Given the description of an element on the screen output the (x, y) to click on. 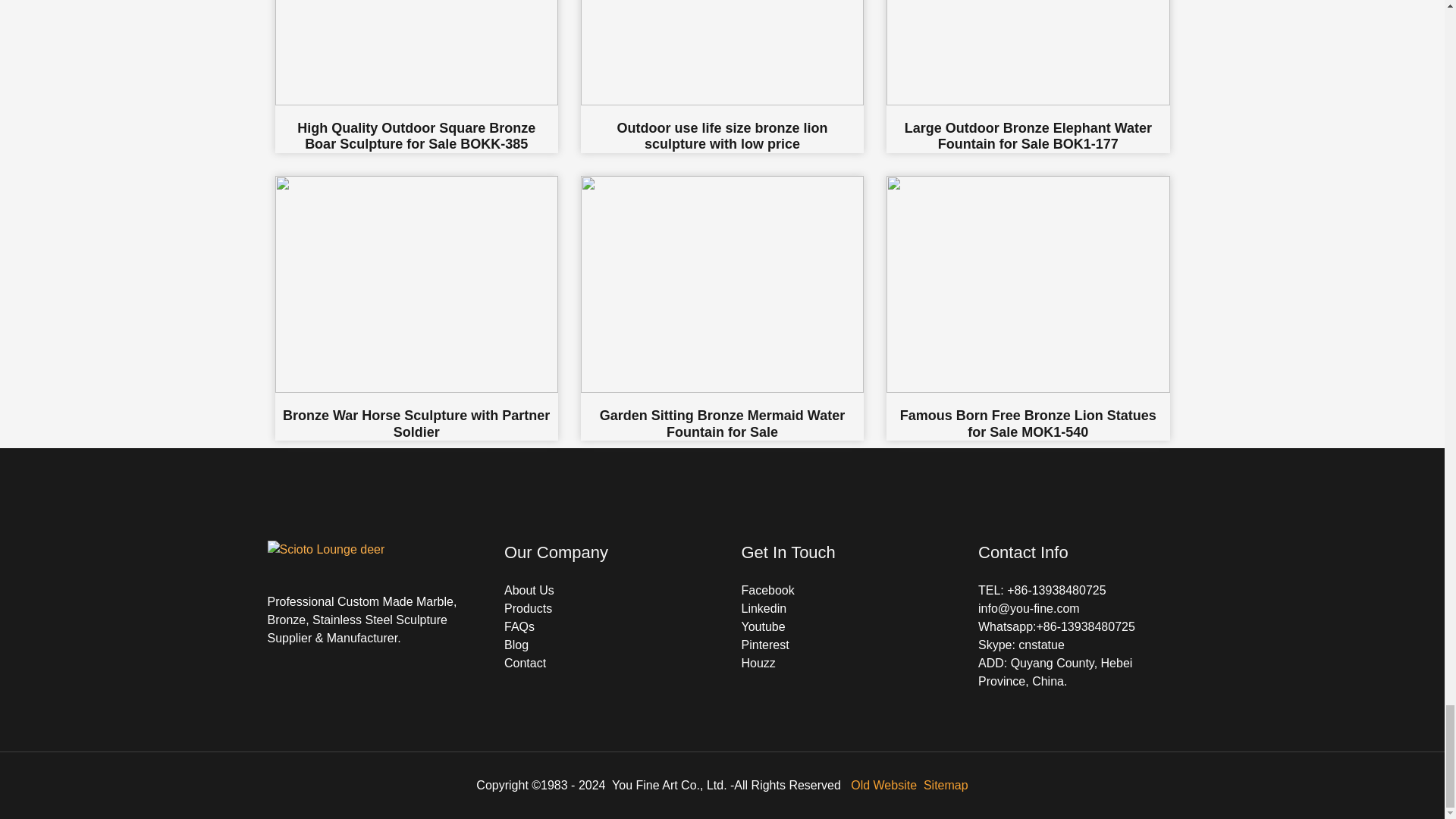
Bronze War Horse Sculpture with Partner Soldier (416, 308)
Garden Sitting Bronze Mermaid Water Fountain for Sale (721, 308)
Outdoor use life size bronze lion sculpture with low price (721, 76)
Famous Born Free Bronze Lion Statues for Sale MOK1-540 (1027, 308)
